Given the description of an element on the screen output the (x, y) to click on. 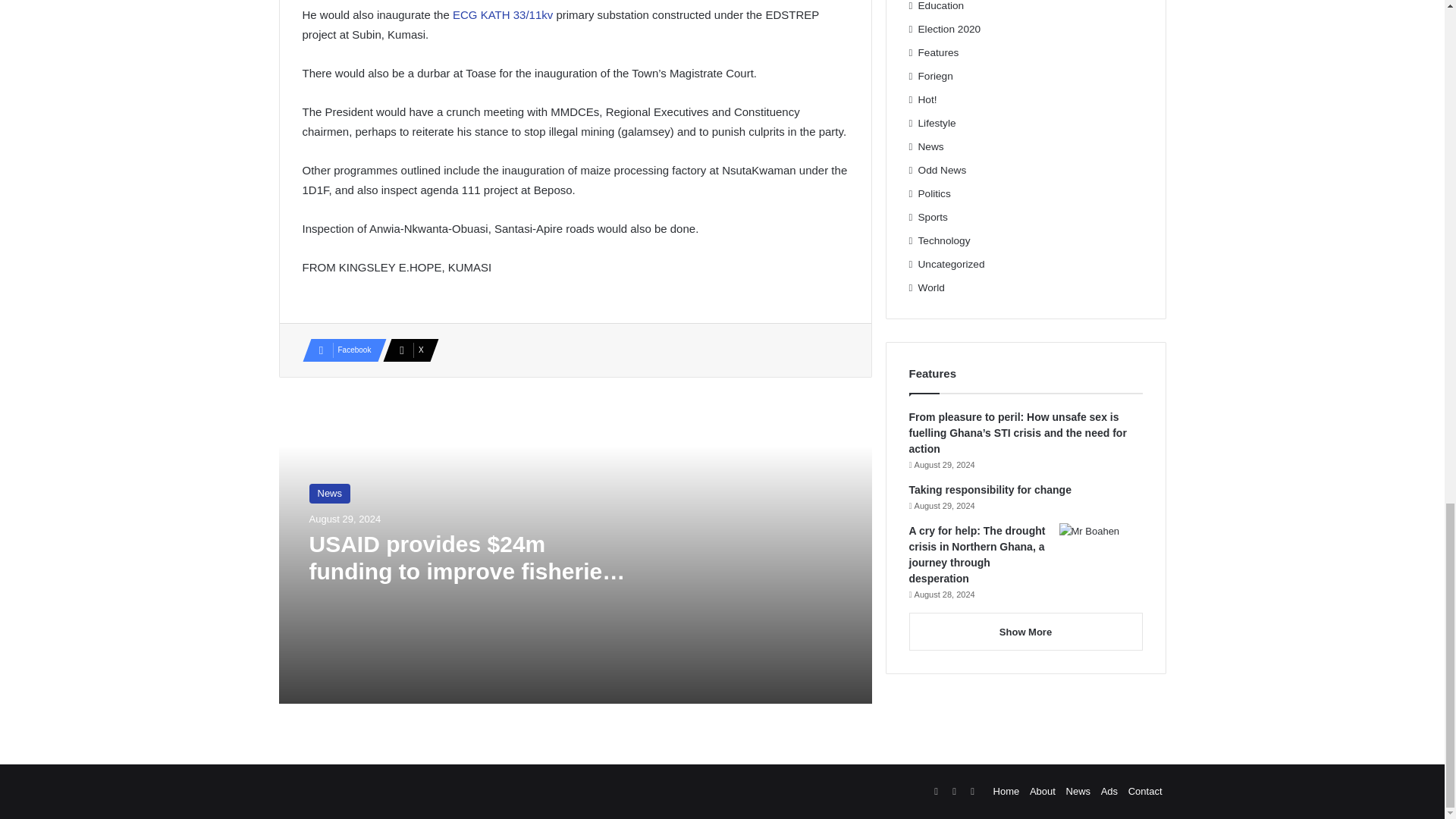
Facebook (339, 350)
Facebook (339, 350)
X (405, 350)
News (329, 493)
X (405, 350)
